Given the description of an element on the screen output the (x, y) to click on. 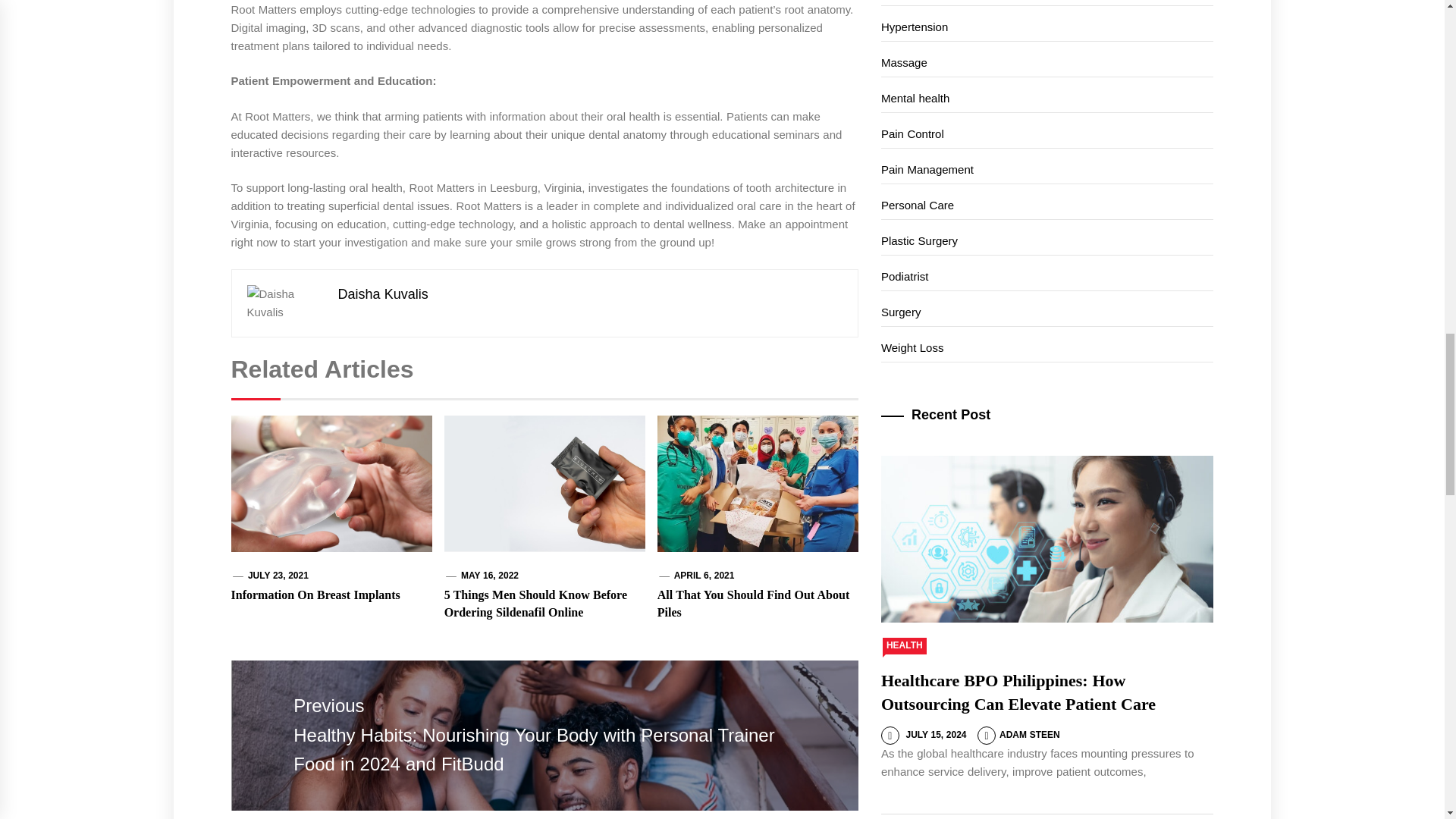
All That You Should Find Out About Piles (753, 603)
APRIL 6, 2021 (704, 575)
Information On Breast Implants (314, 594)
5 Things Men Should Know Before Ordering Sildenafil Online (535, 603)
Daisha Kuvalis (382, 294)
JULY 23, 2021 (277, 575)
MAY 16, 2022 (489, 575)
